Given the description of an element on the screen output the (x, y) to click on. 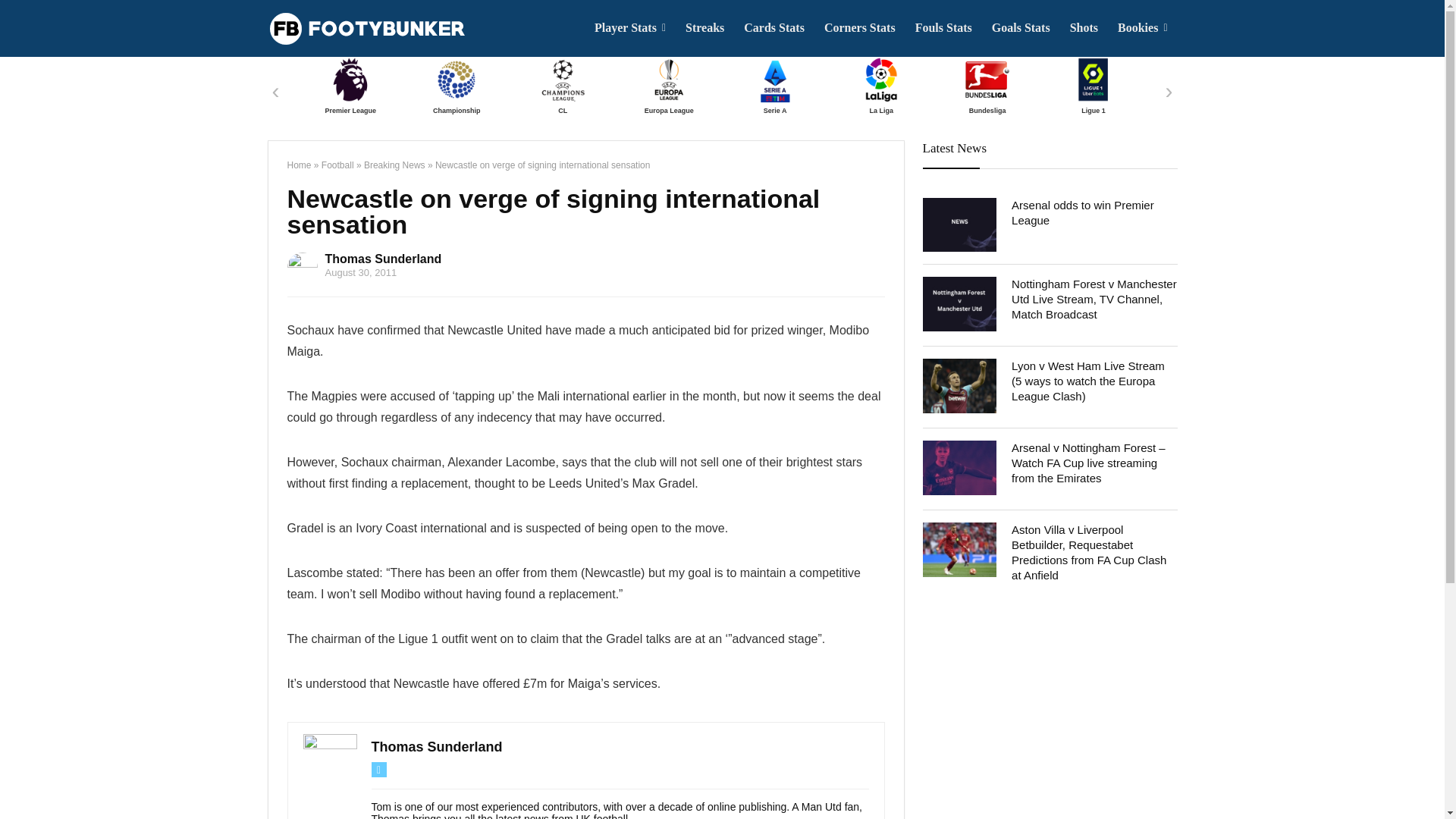
Streaks (704, 27)
Goals Stats (1020, 27)
Bookies (1142, 27)
Shots (1083, 27)
Corners Stats (859, 27)
Cards Stats (773, 27)
Posts by Thomas Sunderland (436, 746)
Fouls Stats (943, 27)
Player Stats (630, 27)
